Given the description of an element on the screen output the (x, y) to click on. 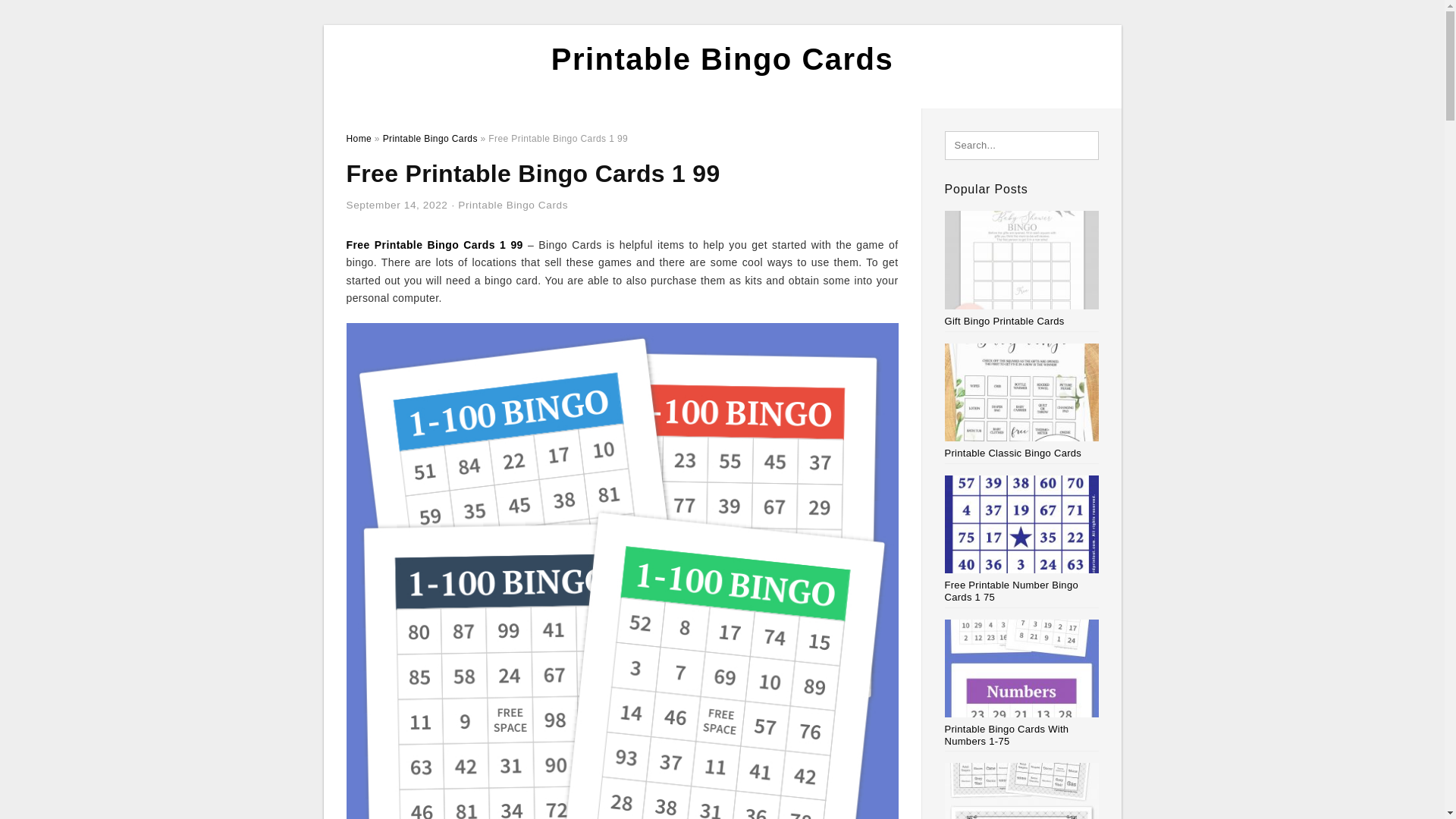
Free Customizable Bingo Cards Printable (1021, 790)
Printable Bingo Cards (722, 59)
Gift Bingo Printable Cards (1021, 268)
Search (43, 15)
Home (358, 138)
Printable Classic Bingo Cards (1021, 401)
Printable Bingo Cards With Numbers 1-75 (1021, 683)
Printable Bingo Cards (512, 204)
Printable Bingo Cards (429, 138)
